Given the description of an element on the screen output the (x, y) to click on. 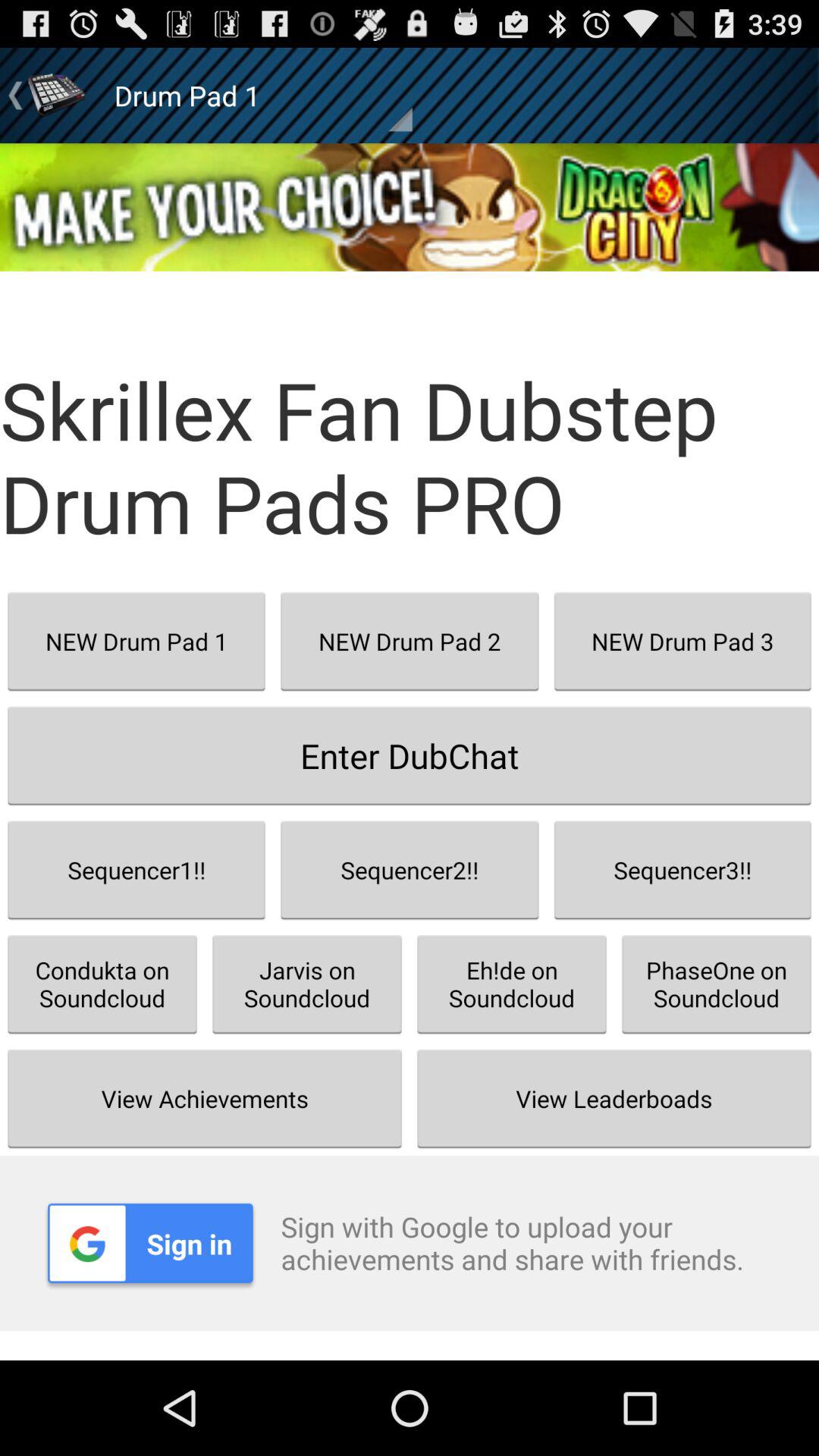
swipe to the view achievements icon (204, 1098)
